Given the description of an element on the screen output the (x, y) to click on. 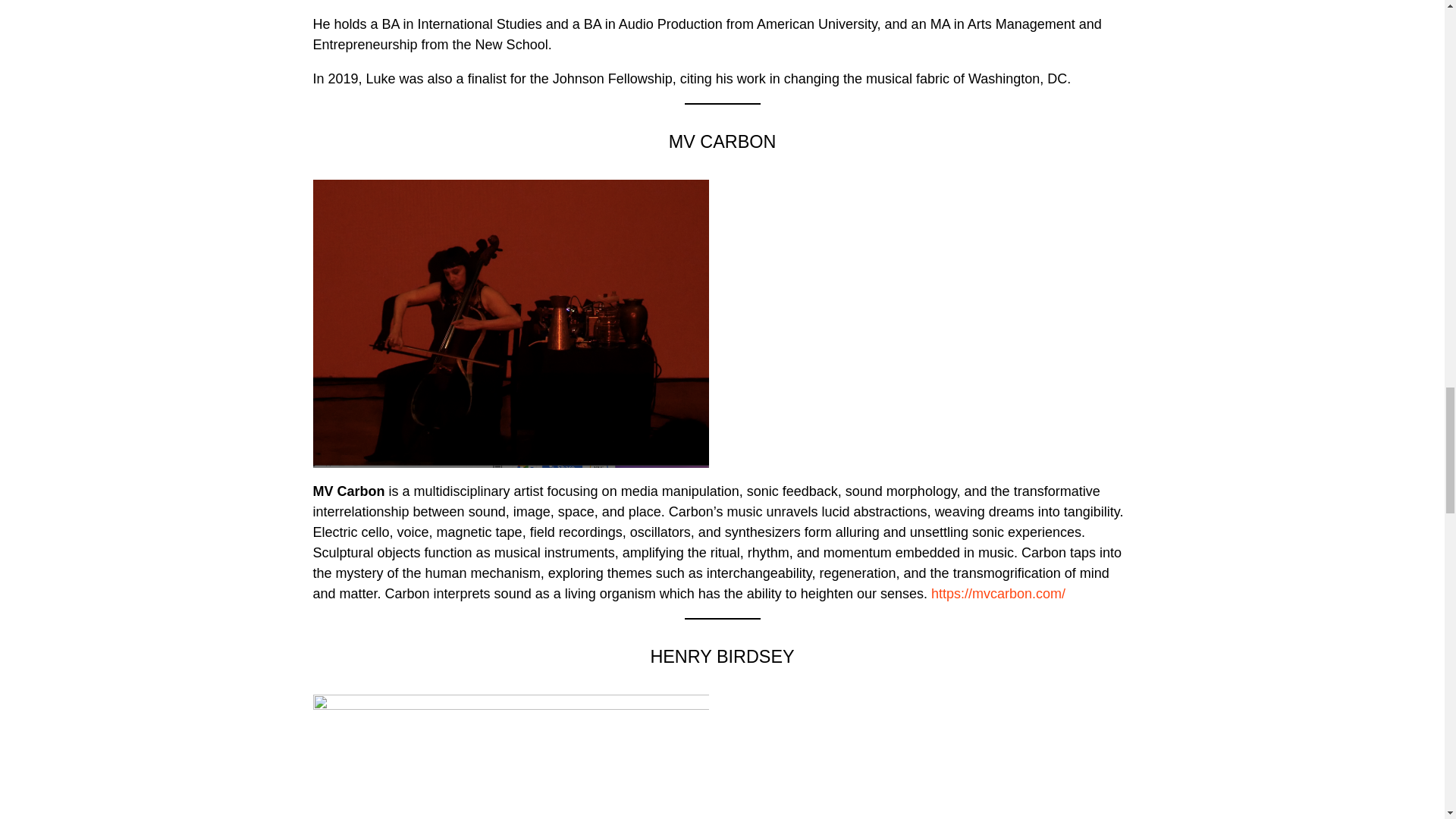
Tongue Depressor, Live at Waterworks 2022 (933, 756)
PS1-Shattered Patterns (933, 290)
